Given the description of an element on the screen output the (x, y) to click on. 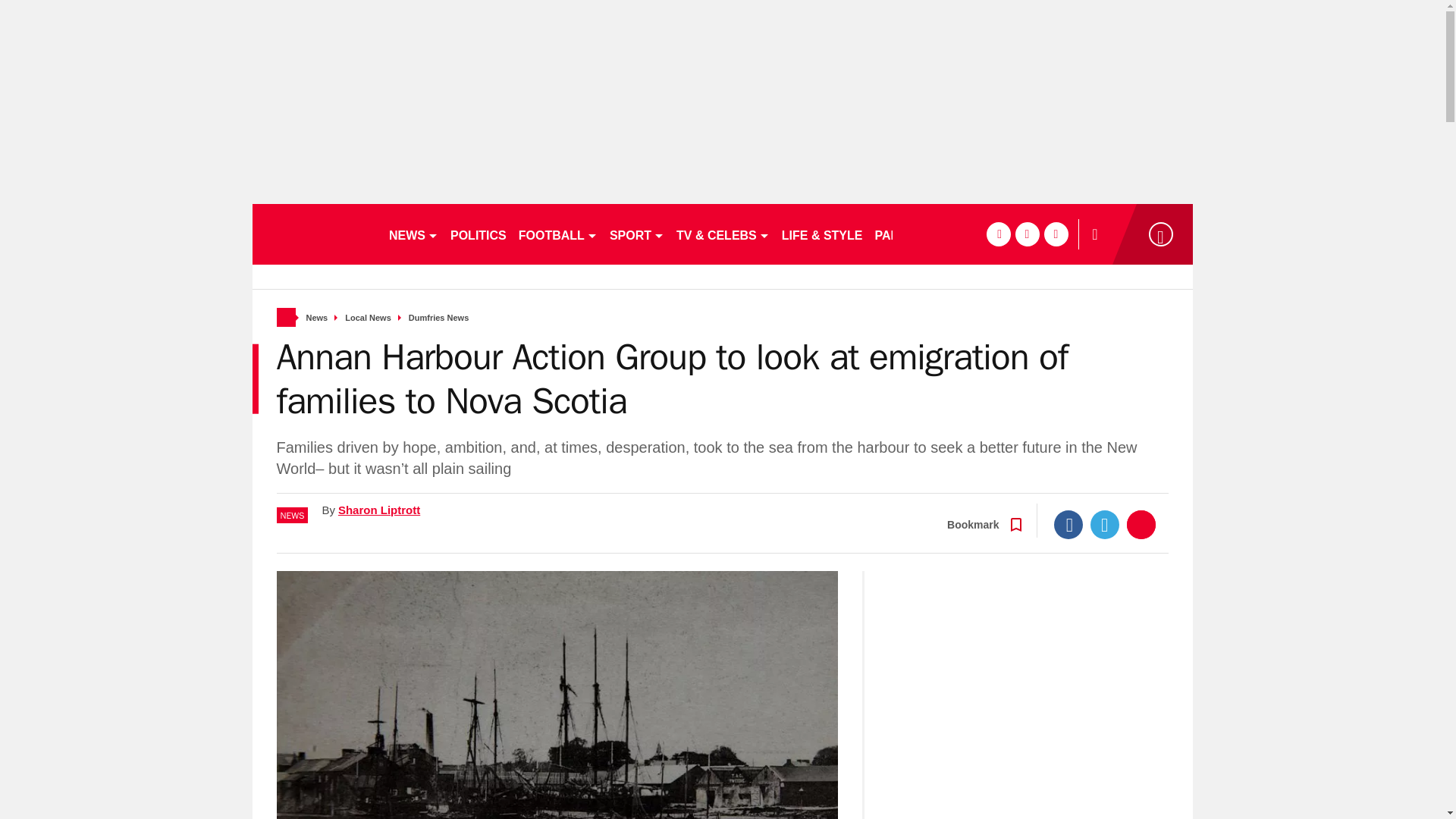
FOOTBALL (558, 233)
facebook (997, 233)
Twitter (1104, 524)
twitter (1026, 233)
NEWS (413, 233)
dailyrecord (313, 233)
instagram (1055, 233)
POLITICS (478, 233)
Facebook (1068, 524)
SPORT (636, 233)
